Given the description of an element on the screen output the (x, y) to click on. 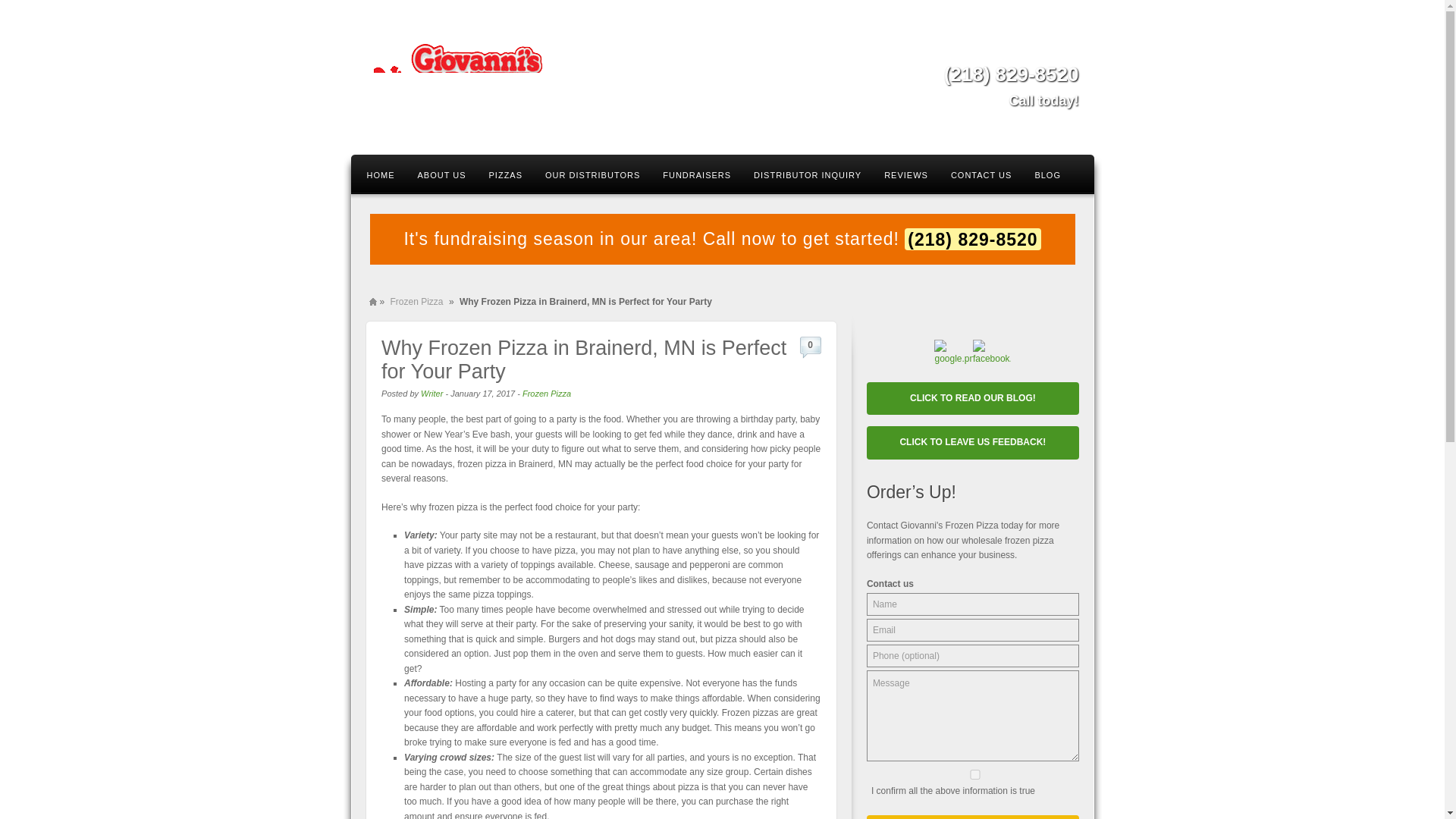
CONTACT US (981, 174)
Send (972, 816)
ABOUT US (441, 174)
CLICK TO READ OUR BLOG! (972, 398)
REVIEWS (905, 174)
1 (974, 774)
OUR DISTRIBUTORS (592, 174)
Why Frozen Pizza in Brainerd, MN is Perfect for Your Party (583, 359)
Why Frozen Pizza in Brainerd, MN is Perfect for Your Party (583, 359)
View all posts by Writer (431, 393)
